Given the description of an element on the screen output the (x, y) to click on. 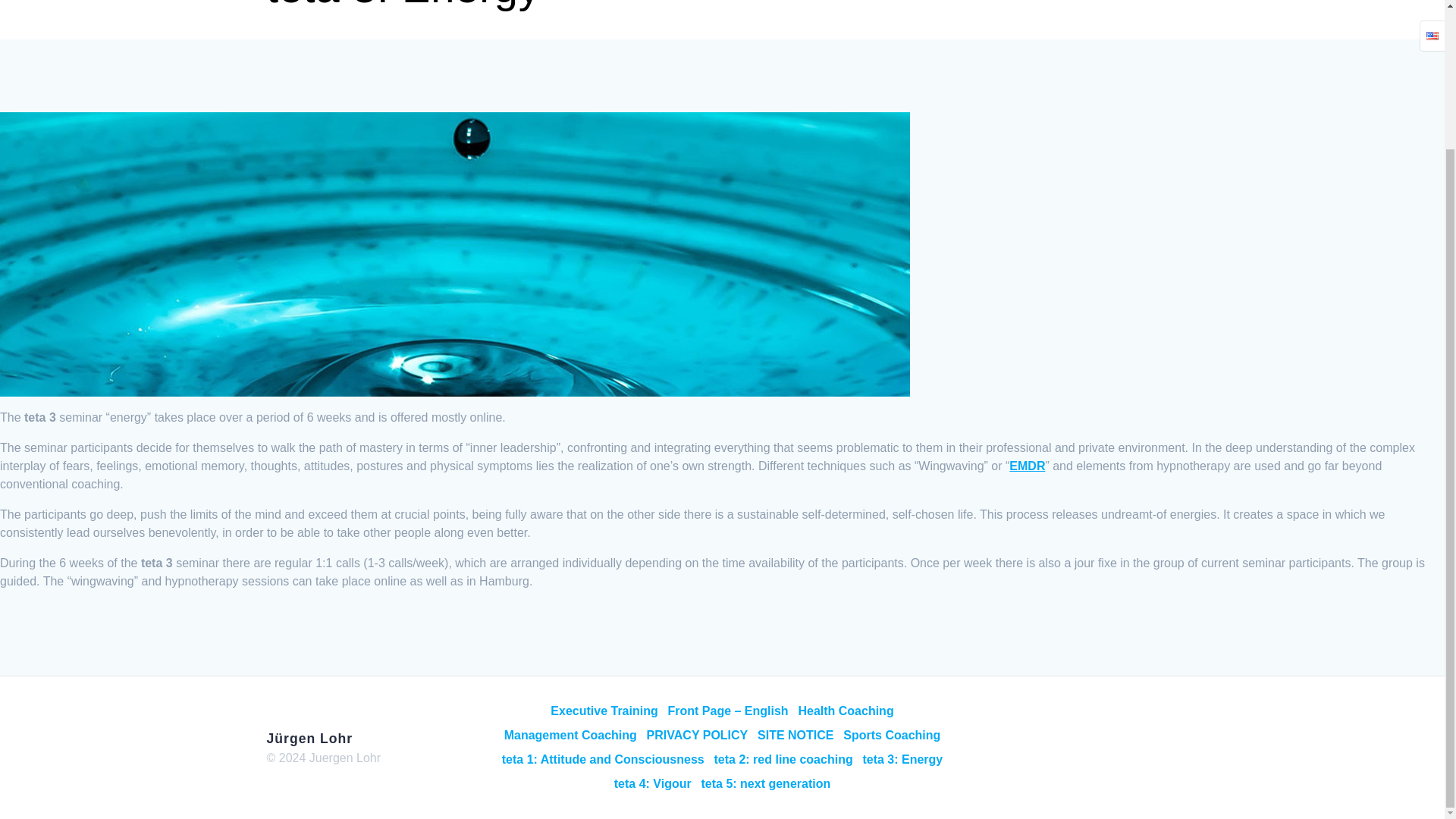
PRIVACY POLICY (697, 735)
Management Coaching (570, 735)
Health Coaching (845, 711)
SITE NOTICE (794, 735)
teta 5: next generation (766, 784)
EMDR (1027, 465)
teta 4: Vigour (652, 784)
teta 3: Energy (901, 759)
Executive Training (604, 711)
teta 1: Attitude and Consciousness (603, 759)
